Given the description of an element on the screen output the (x, y) to click on. 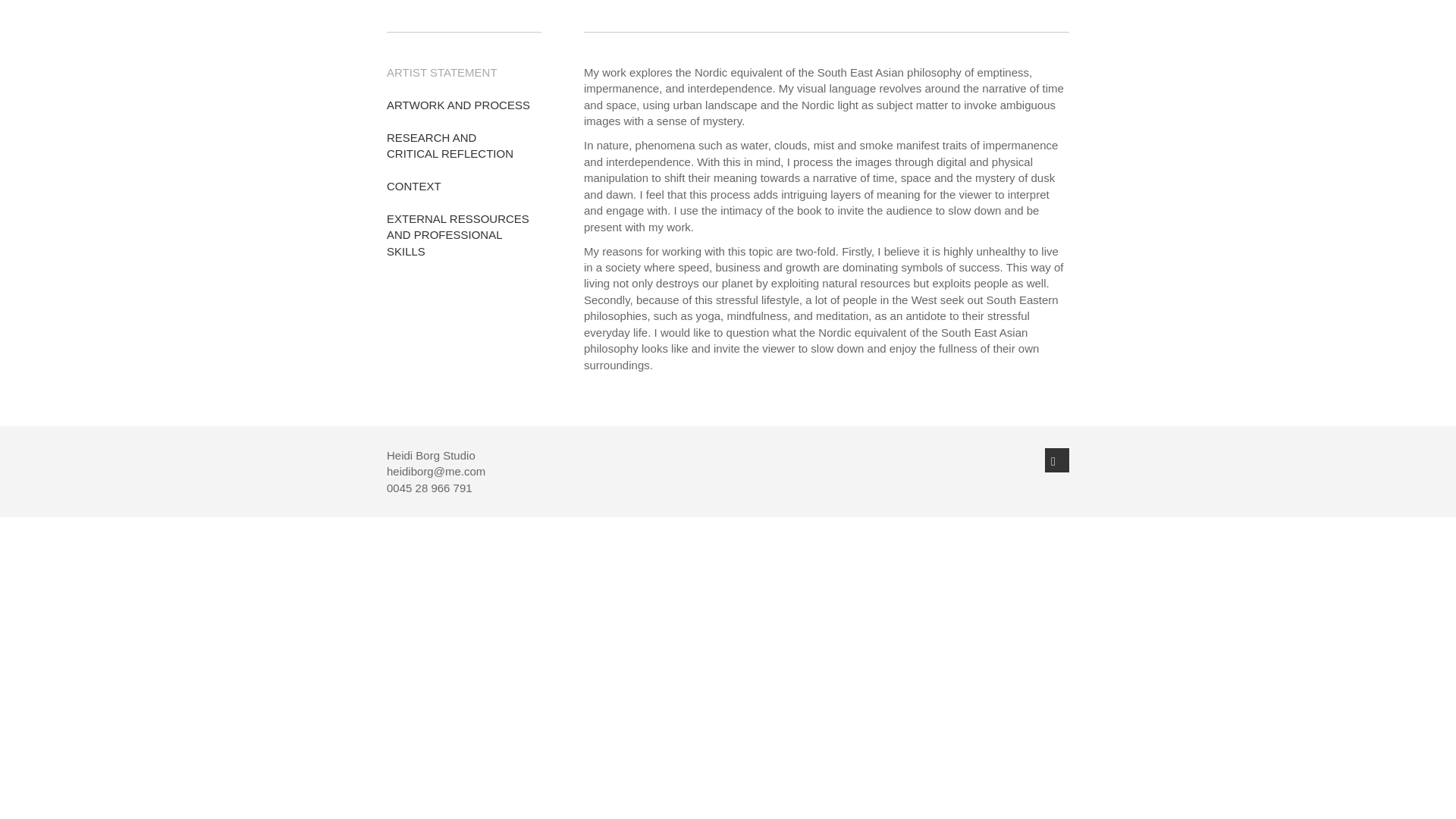
Instagram (1056, 459)
CONTEXT (414, 185)
ARTWORK AND PROCESS (458, 234)
Instagram (458, 104)
